Given the description of an element on the screen output the (x, y) to click on. 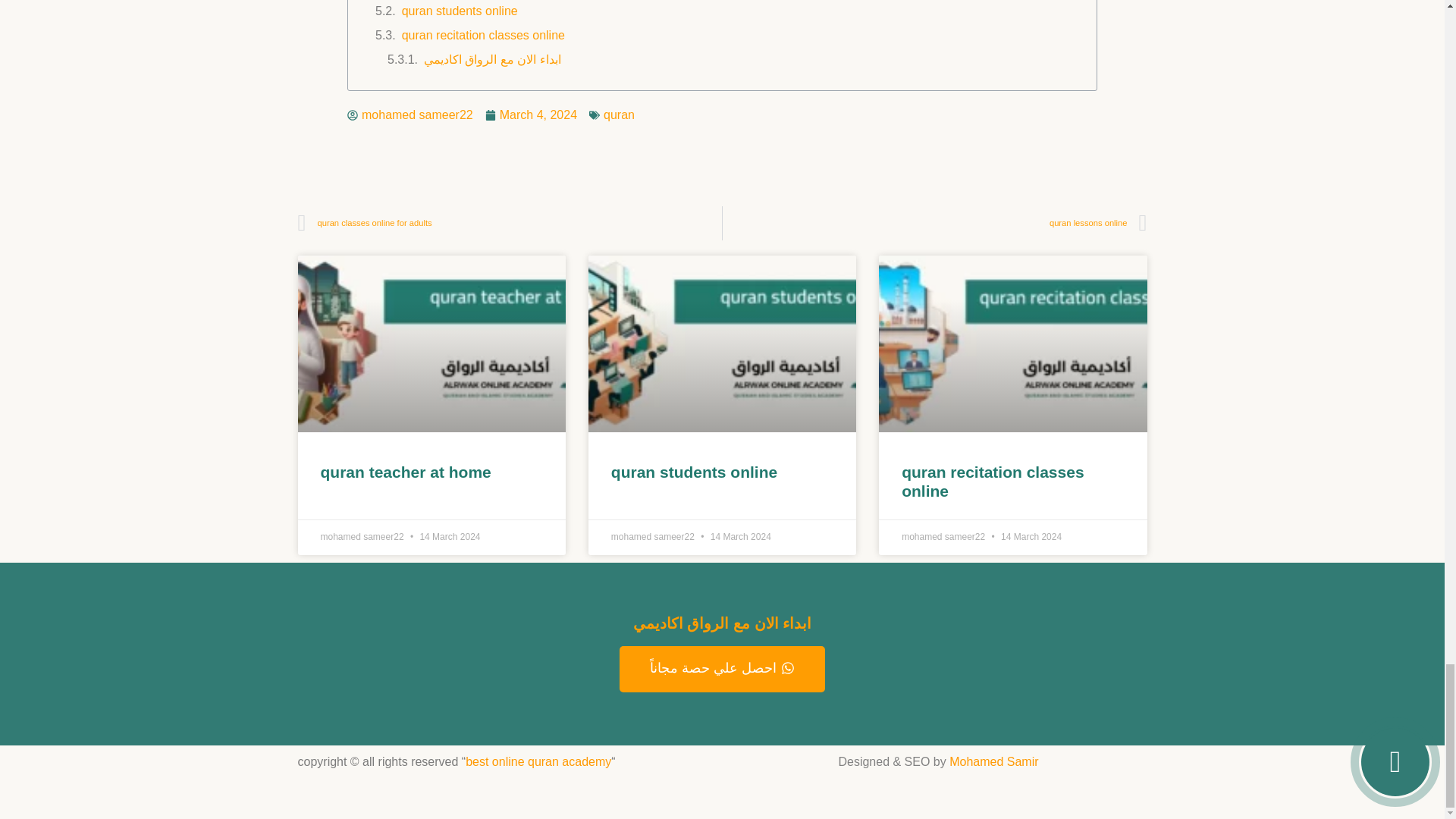
March 4, 2024 (530, 115)
quran students online (694, 471)
quran teacher at home (405, 471)
quran students online (459, 11)
quran classes online for adults (509, 223)
quran recitation classes online (482, 35)
mohamed sameer22 (410, 115)
quran recitation classes online (992, 481)
quran (619, 114)
quran lessons online (934, 223)
